Given the description of an element on the screen output the (x, y) to click on. 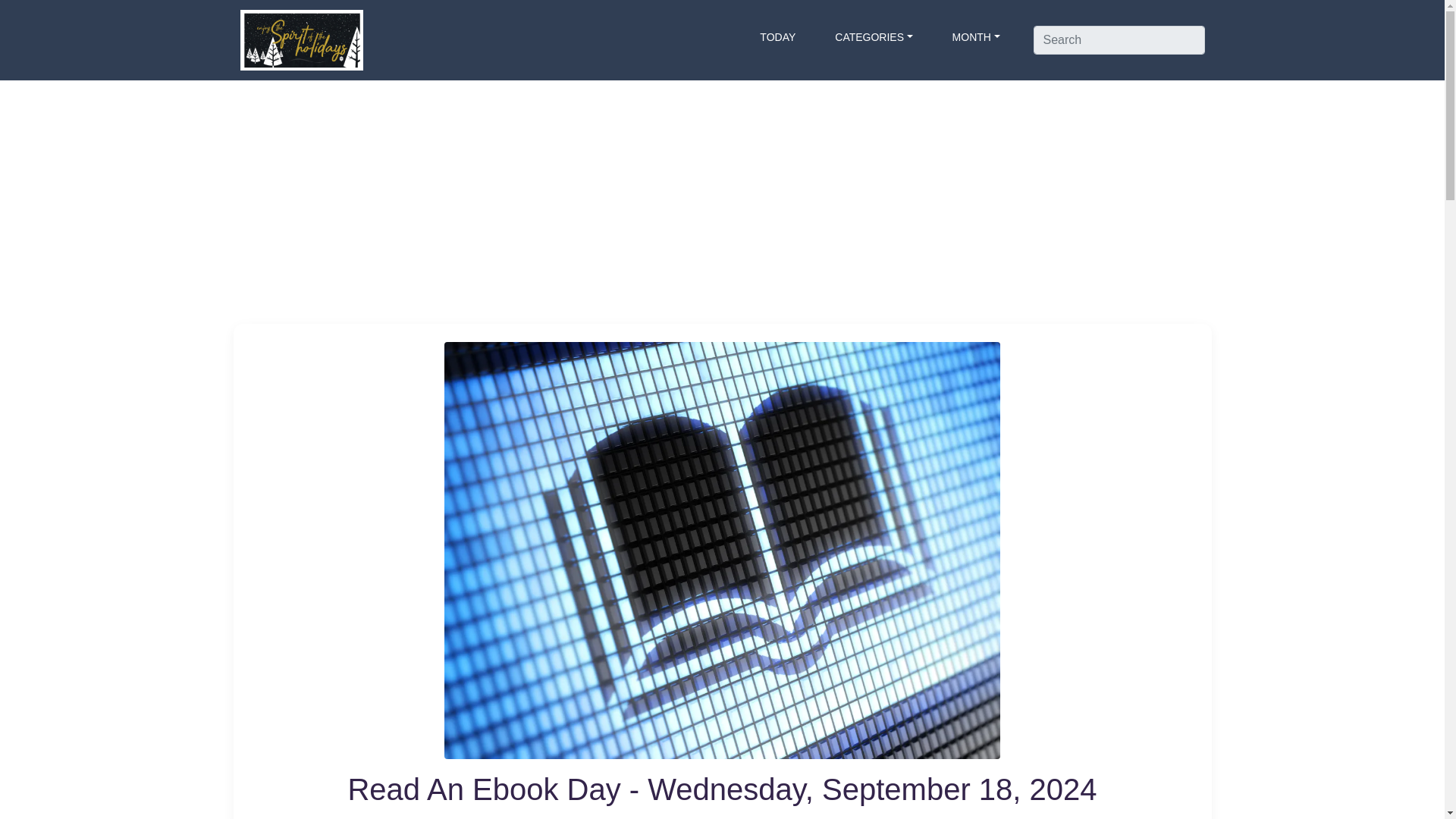
TODAY (778, 36)
CATEGORIES (873, 36)
MONTH (976, 36)
